Given the description of an element on the screen output the (x, y) to click on. 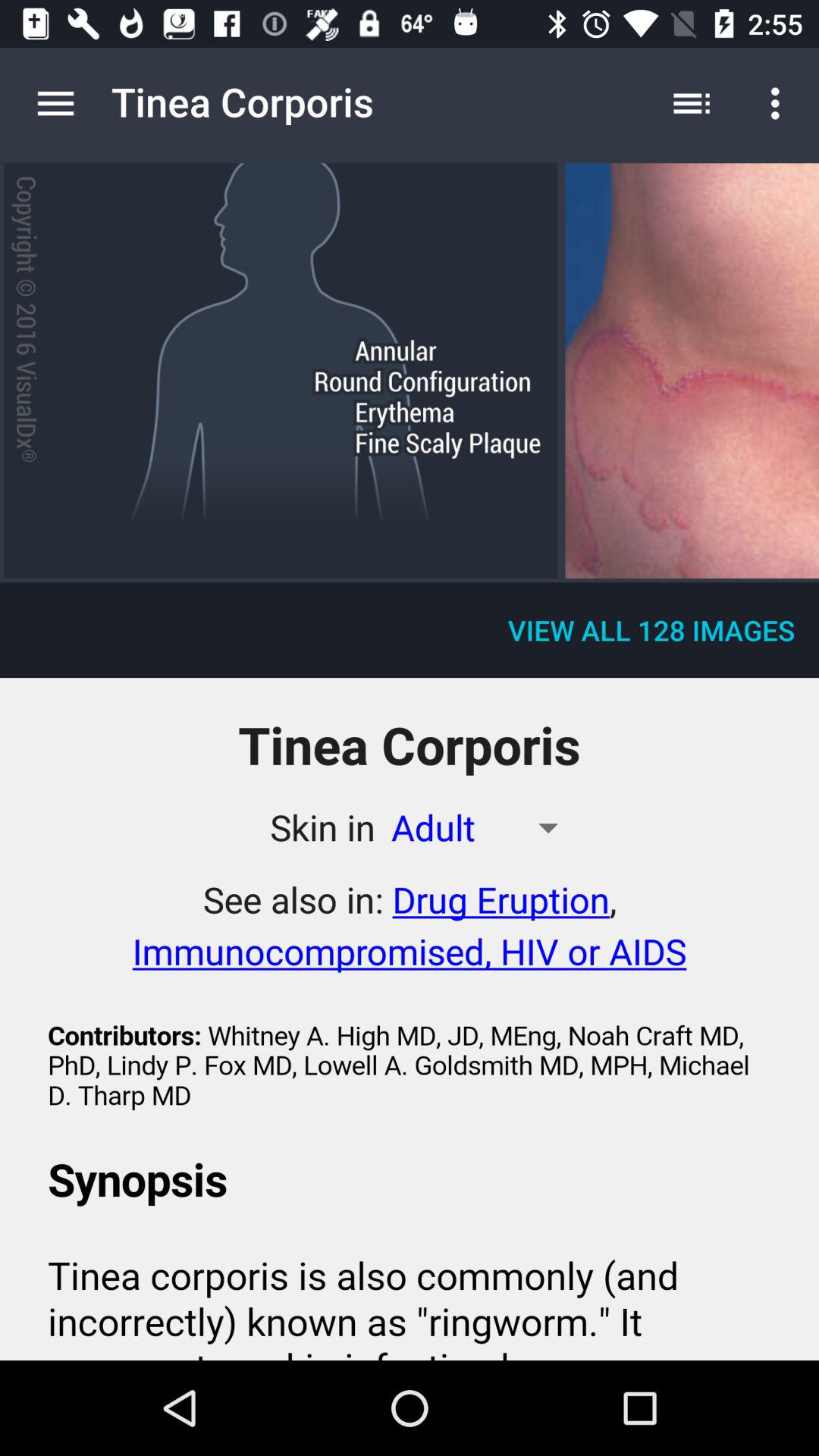
go to image (692, 370)
